Given the description of an element on the screen output the (x, y) to click on. 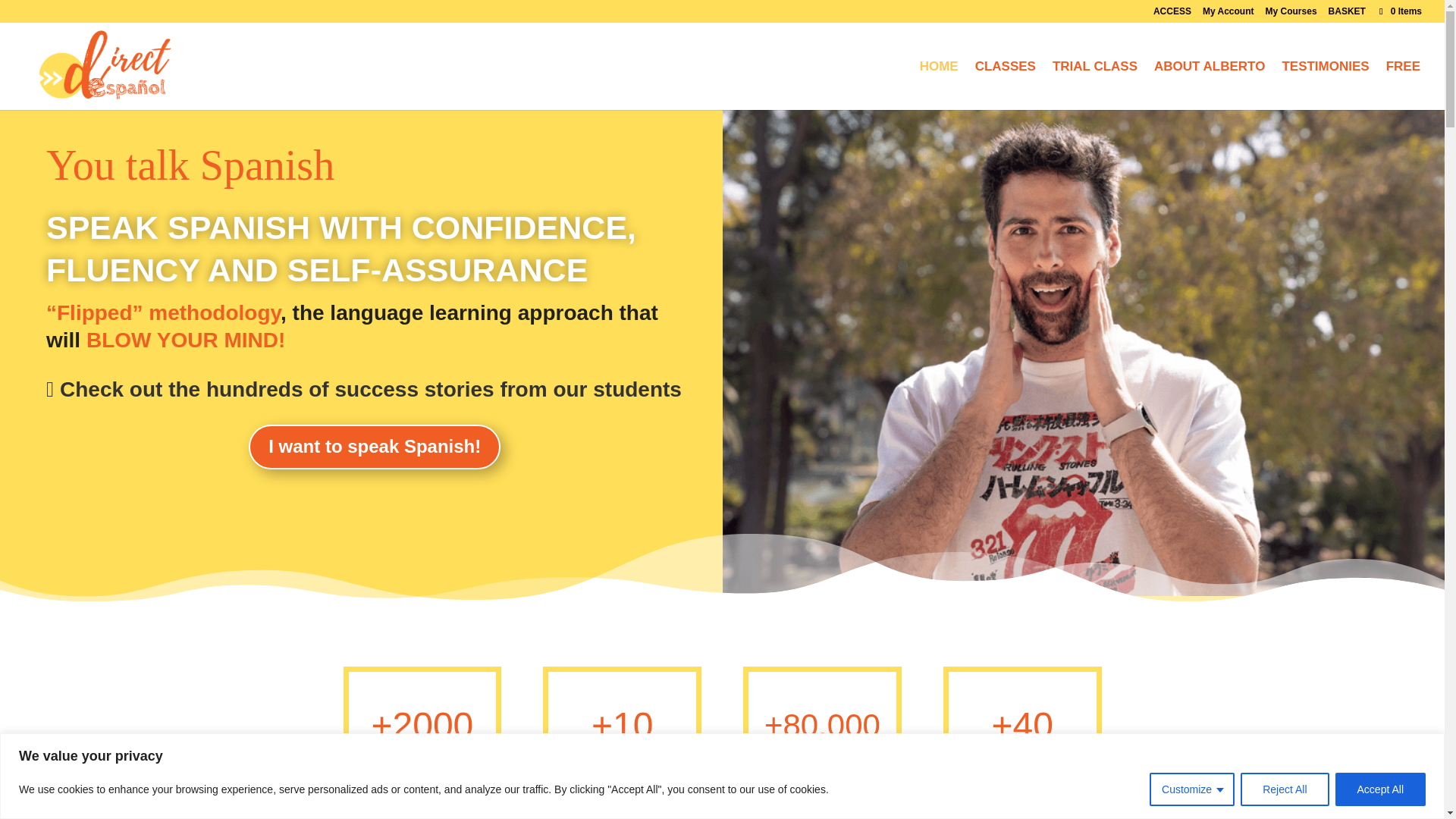
Customize (1192, 788)
HOME (939, 85)
0 Items (1399, 10)
My Courses (1291, 14)
Accept All (1380, 788)
I want to speak Spanish! (374, 447)
TRIAL CLASS (1094, 85)
Reject All (1283, 788)
ABOUT ALBERTO (1209, 85)
TESTIMONIES (1324, 85)
CLASSES (1005, 85)
ACCESS (1172, 14)
My Account (1227, 14)
BASKET (1346, 14)
FREE (1403, 85)
